Given the description of an element on the screen output the (x, y) to click on. 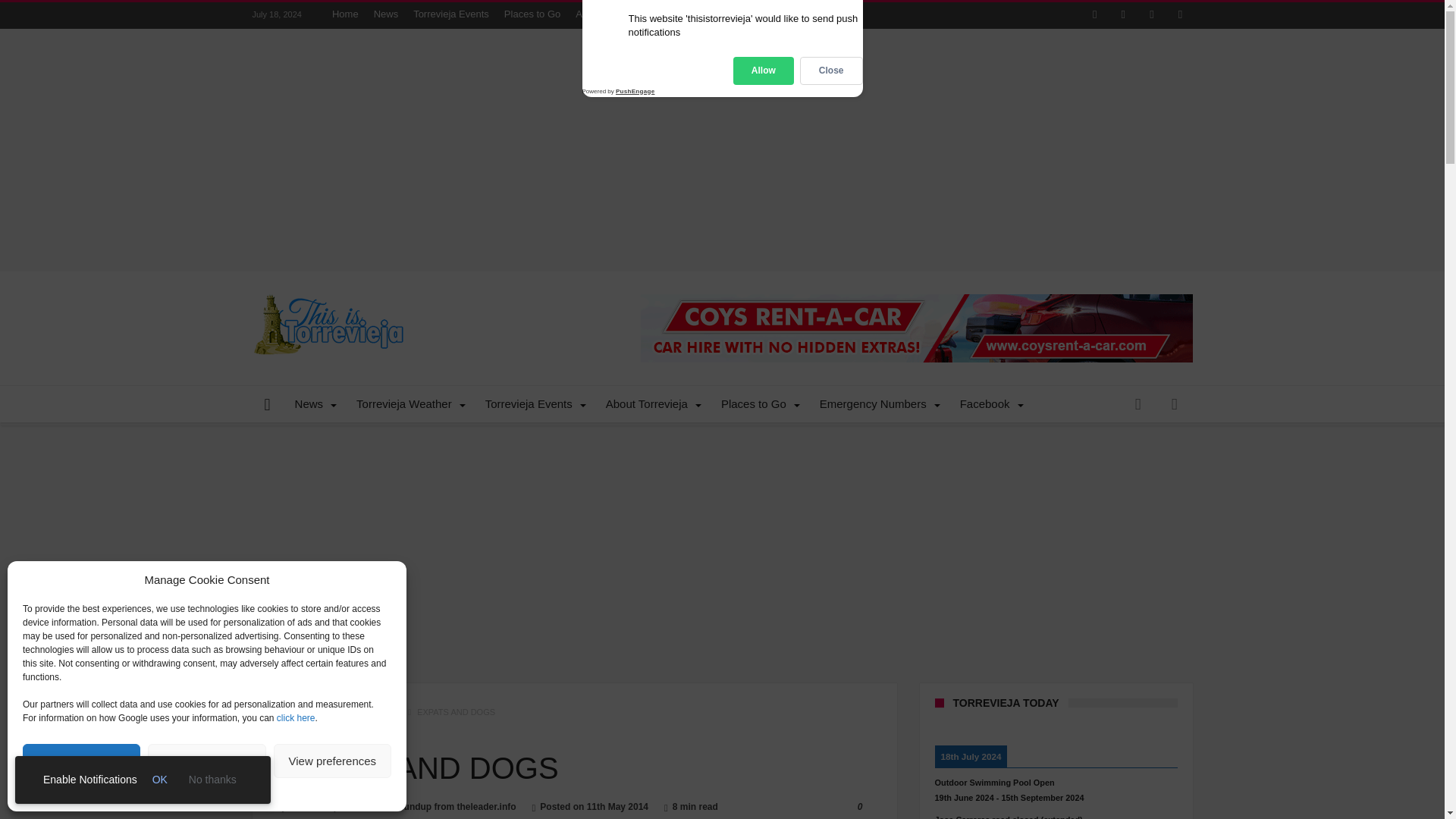
Deny (206, 760)
View preferences (332, 760)
Cookie Policy (174, 792)
Accept (81, 760)
click here (295, 717)
Privacy Policy (237, 792)
